Given the description of an element on the screen output the (x, y) to click on. 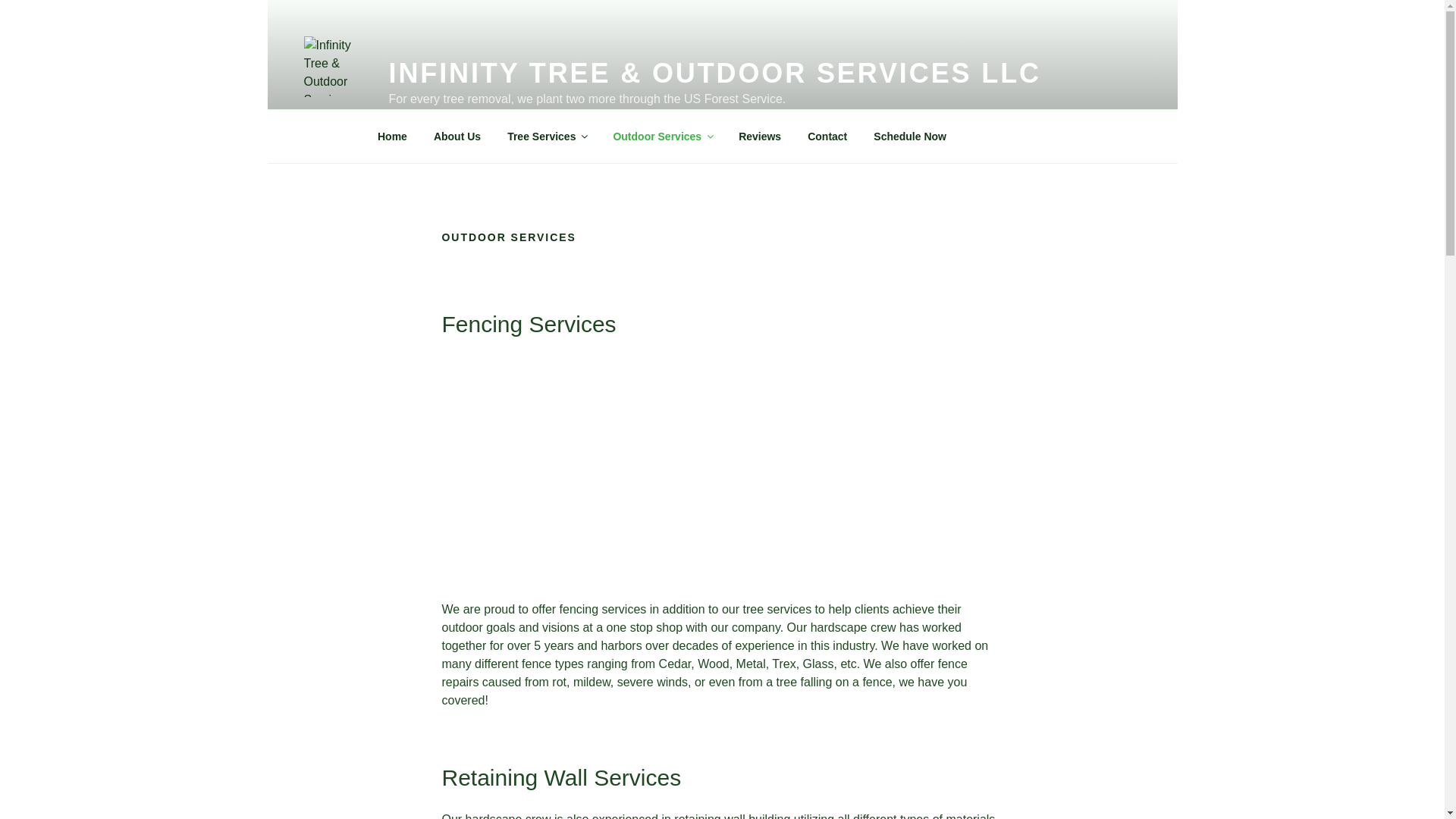
Tree Services (547, 136)
Contact (827, 136)
Outdoor Services (662, 136)
About Us (456, 136)
Schedule Now (909, 136)
Reviews (759, 136)
Home (392, 136)
